Given the description of an element on the screen output the (x, y) to click on. 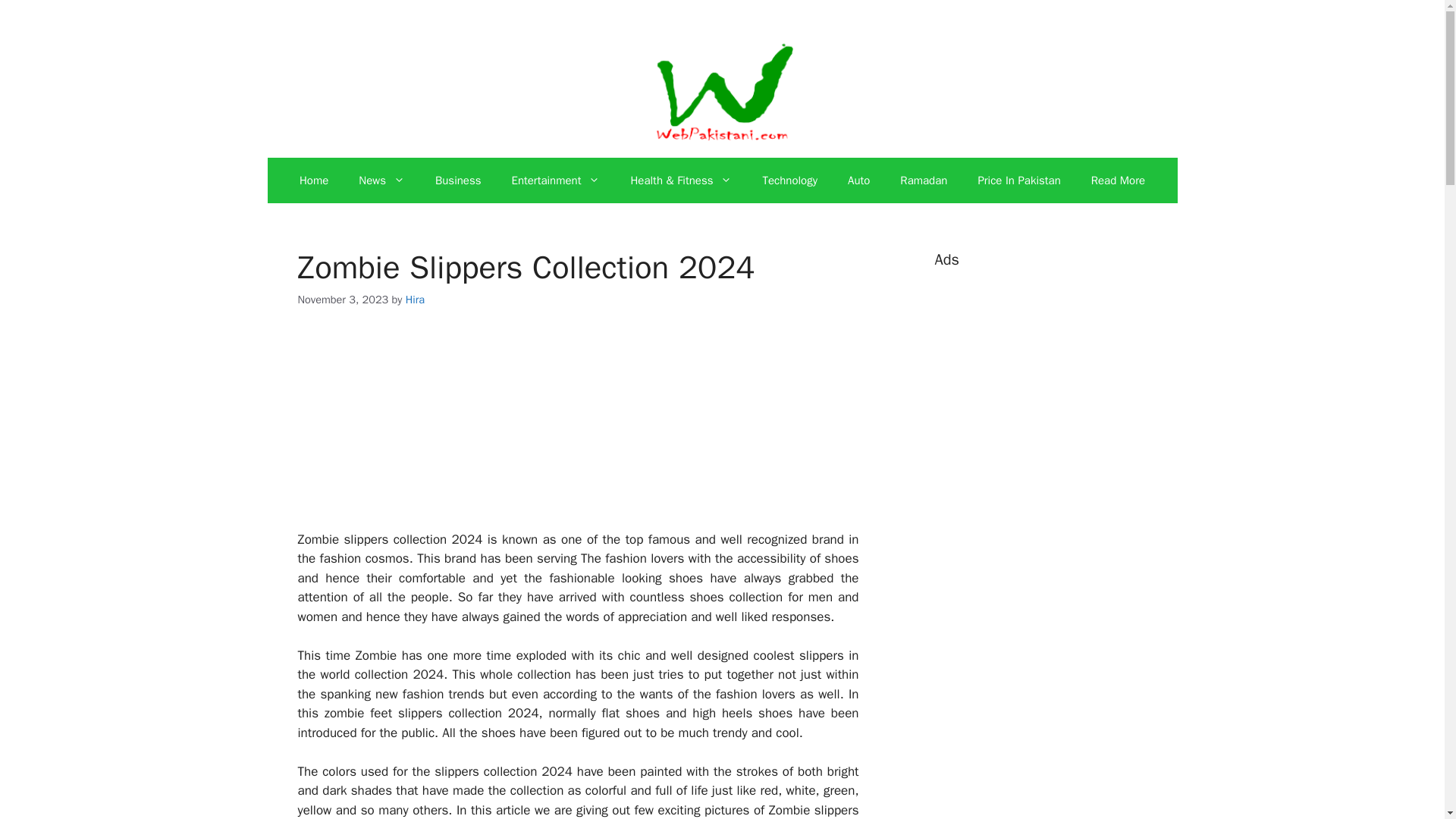
View all posts by Hira (415, 299)
Entertainment (555, 180)
News (381, 180)
Price In Pakistan (1018, 180)
Technology (789, 180)
Business (458, 180)
Home (313, 180)
Auto (858, 180)
Read More (1117, 180)
Hira (415, 299)
Ramadan (923, 180)
Advertisement (577, 429)
Advertisement (1047, 806)
